Given the description of an element on the screen output the (x, y) to click on. 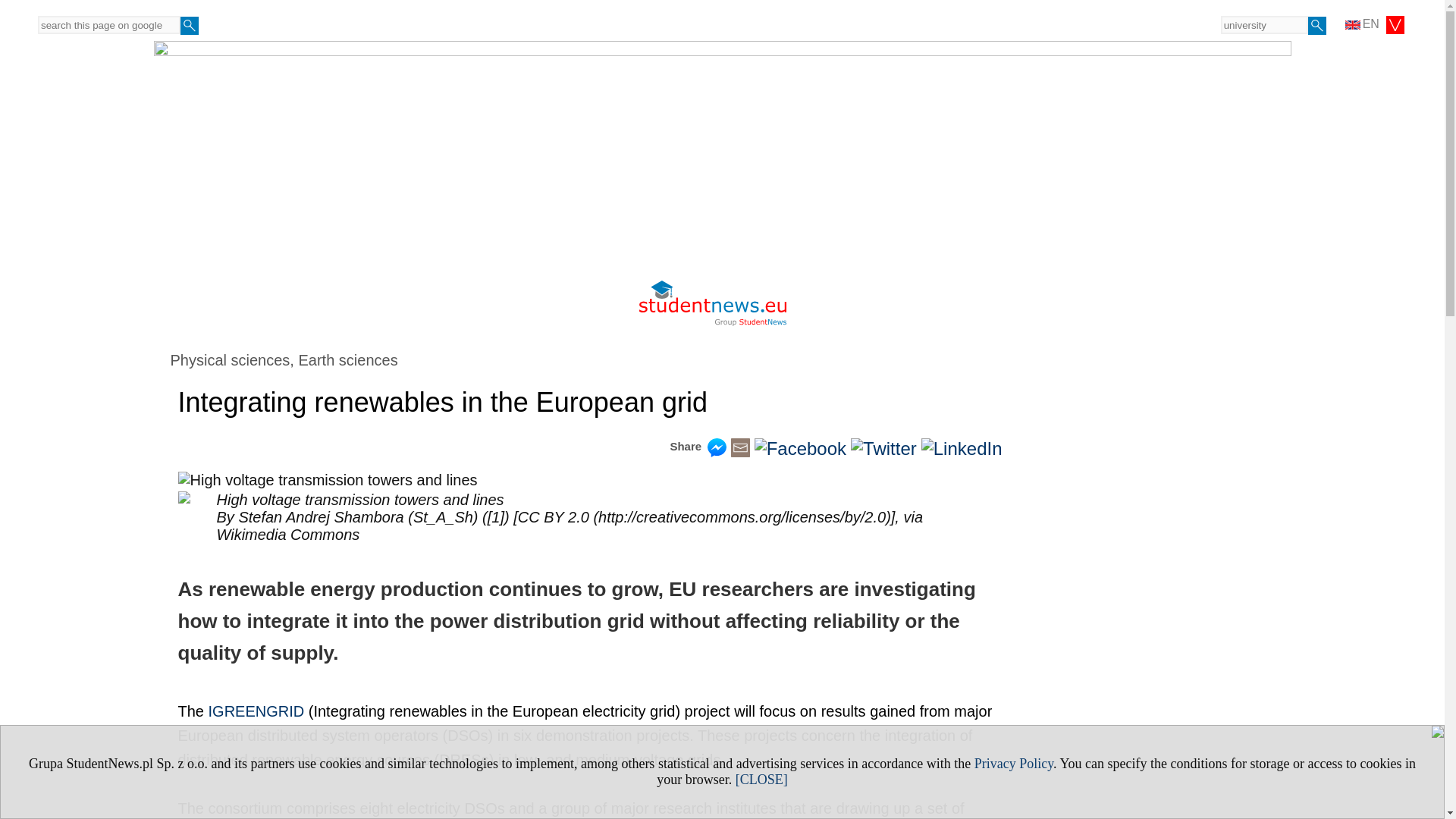
Privacy Policy (1013, 763)
Twitter (883, 448)
LinkedIn (962, 448)
Facebook (799, 448)
e-mail (739, 450)
Physical sciences, Earth sciences (283, 360)
Messenger (716, 450)
